Given the description of an element on the screen output the (x, y) to click on. 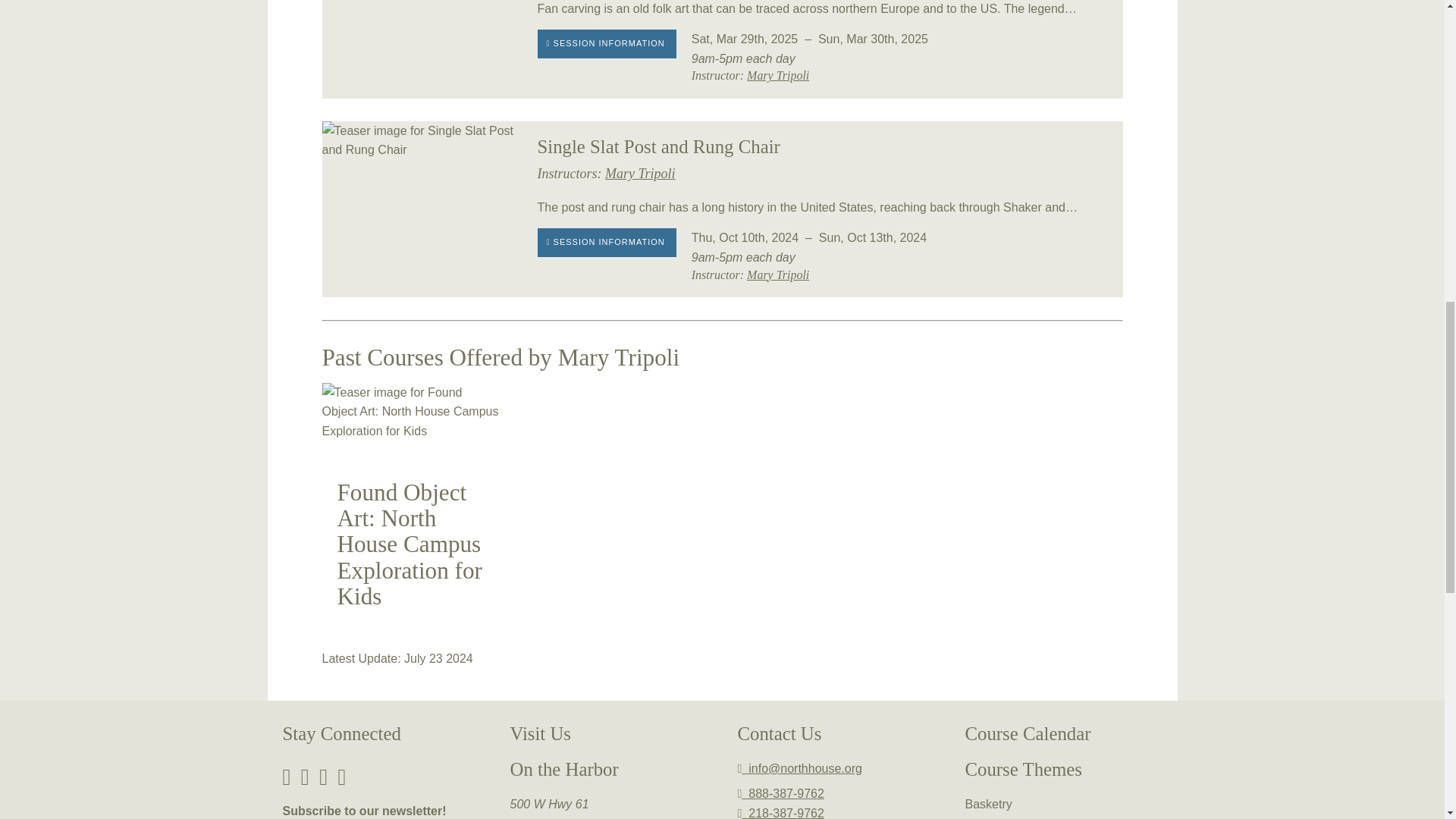
View Bio for Mary Tripoli (777, 74)
View Bio for Mary Tripoli (777, 274)
View Bio for Mary Tripoli (640, 173)
